Given the description of an element on the screen output the (x, y) to click on. 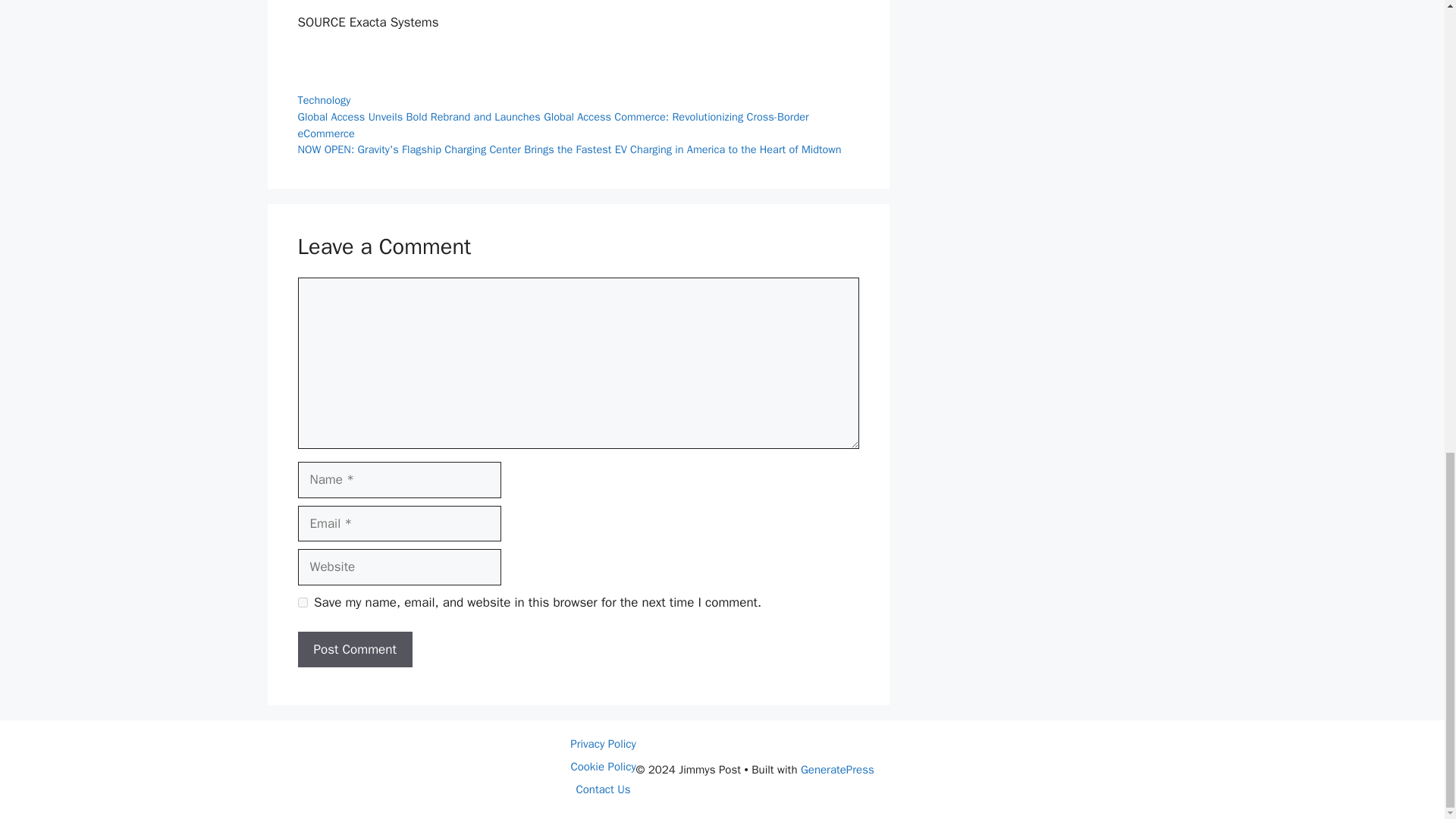
Post Comment (354, 649)
Technology (323, 100)
Contact Us (602, 789)
Post Comment (354, 649)
GeneratePress (837, 769)
Cookie Policy (602, 766)
Privacy Policy (603, 744)
yes (302, 602)
